Given the description of an element on the screen output the (x, y) to click on. 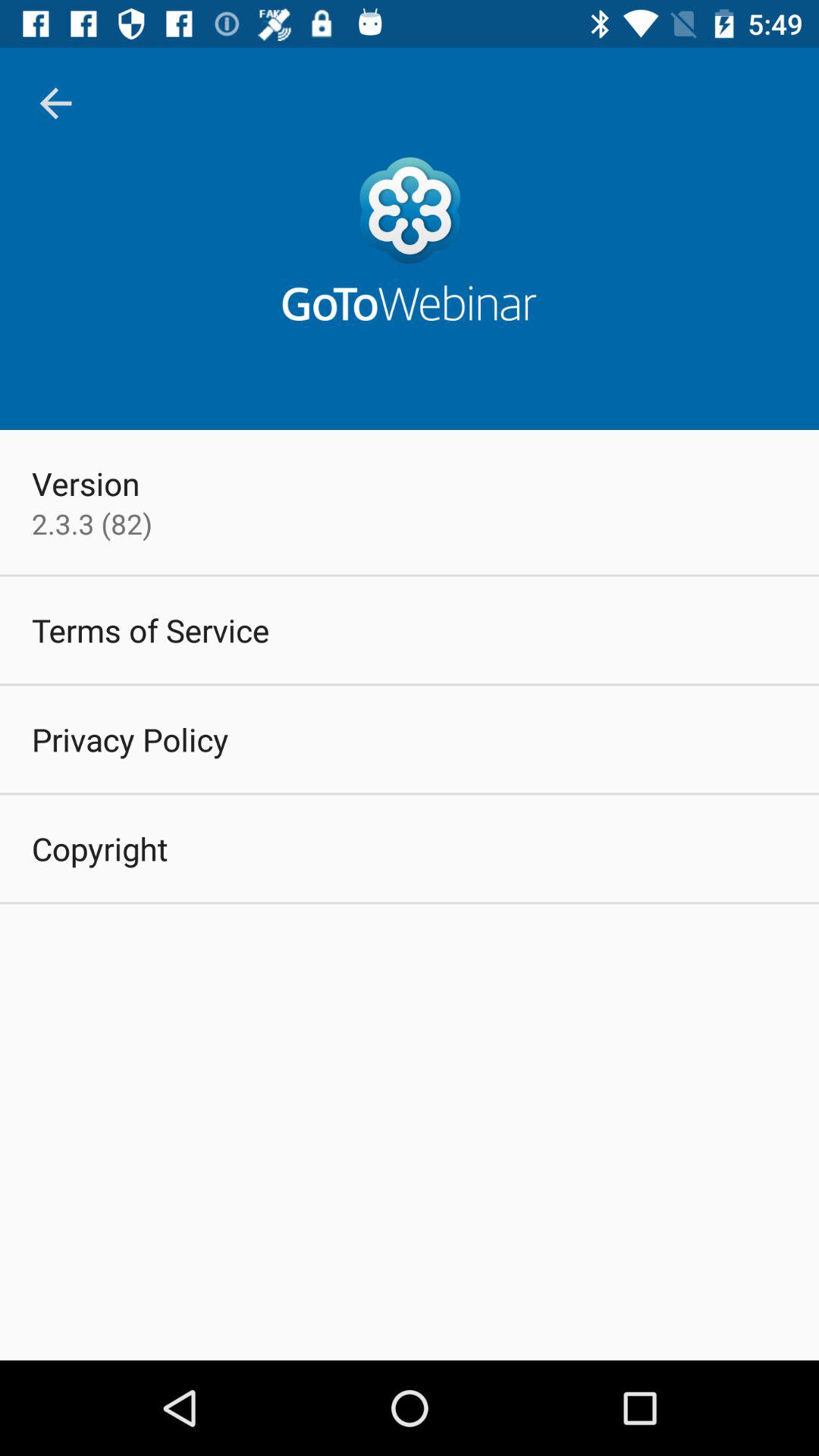
launch the item below 2 3 3 item (150, 629)
